Given the description of an element on the screen output the (x, y) to click on. 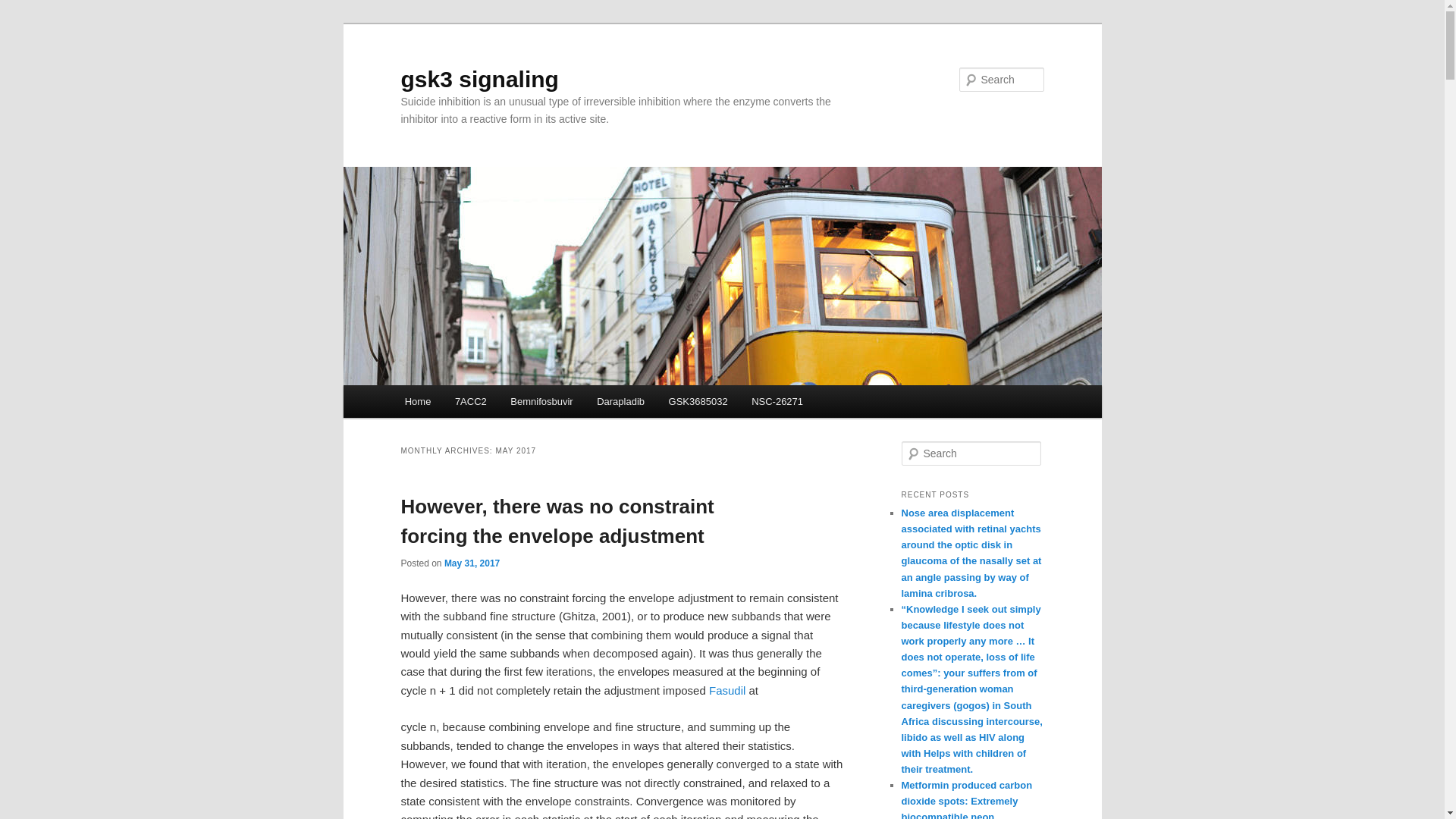
May 31, 2017 (471, 562)
Bemnifosbuvir (542, 400)
Search (24, 8)
Skip to primary content (472, 403)
GSK3685032 (697, 400)
gsk3 signaling (478, 78)
gsk3 signaling (478, 78)
Skip to secondary content (479, 403)
Fasudil (727, 689)
Home (417, 400)
